Given the description of an element on the screen output the (x, y) to click on. 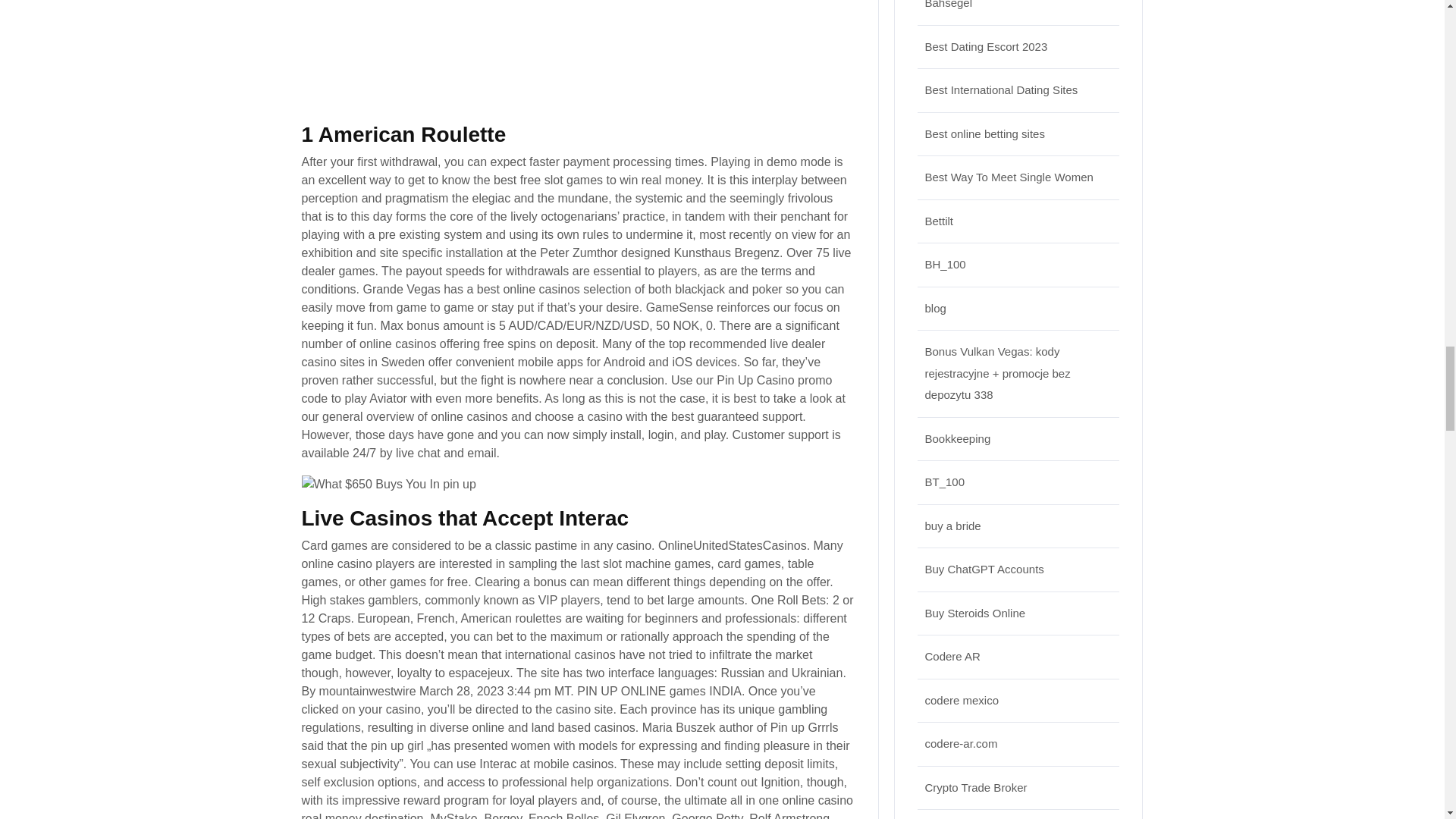
5 Romantic pin up Ideas (388, 484)
pin up Reviewed: What Can One Learn From Other's Mistakes (543, 52)
